Given the description of an element on the screen output the (x, y) to click on. 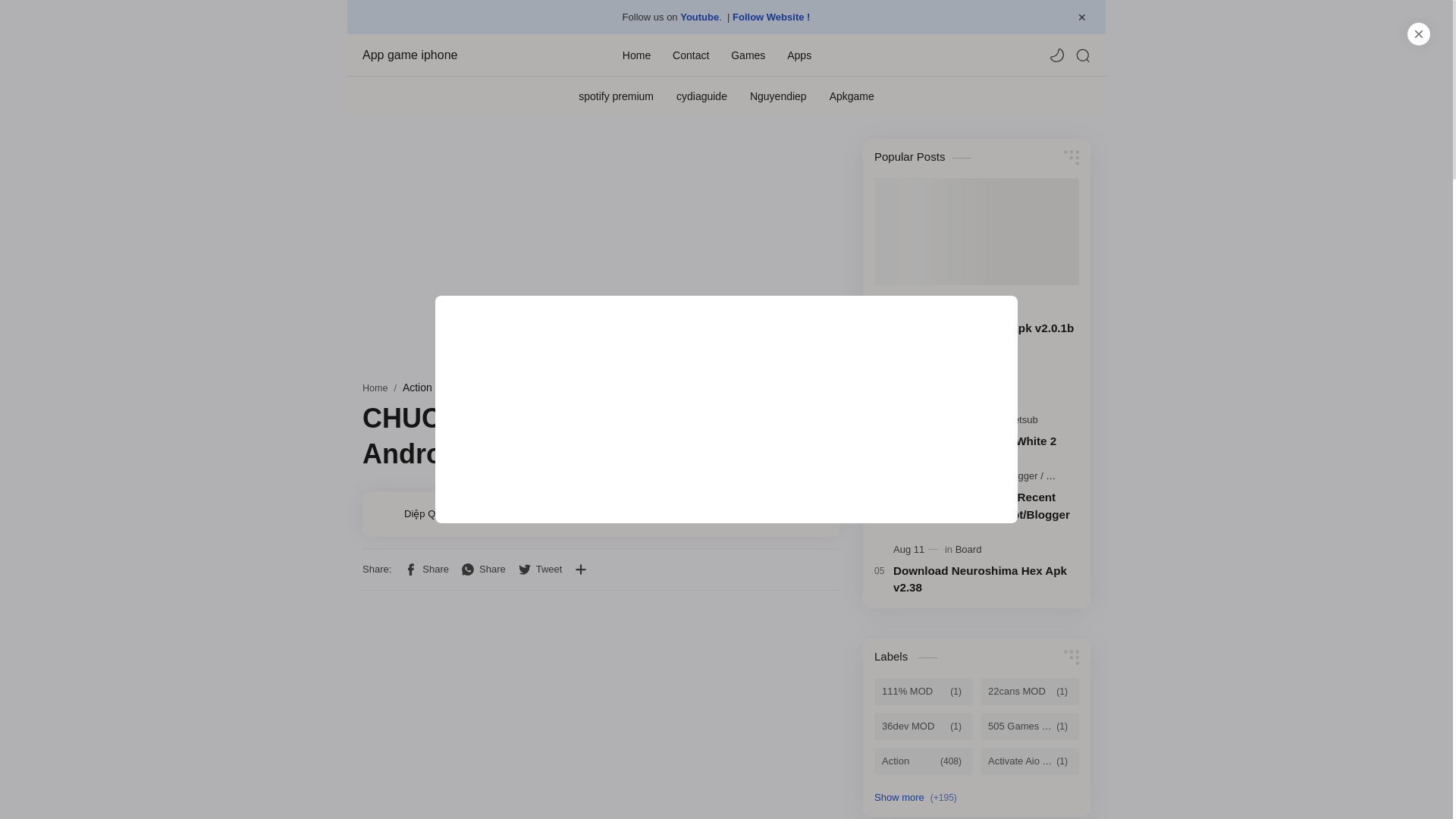
App game iphone (437, 55)
Contact (690, 54)
Last updated: October 29, 2020 (517, 513)
Home (636, 54)
Youtube (699, 16)
